Given the description of an element on the screen output the (x, y) to click on. 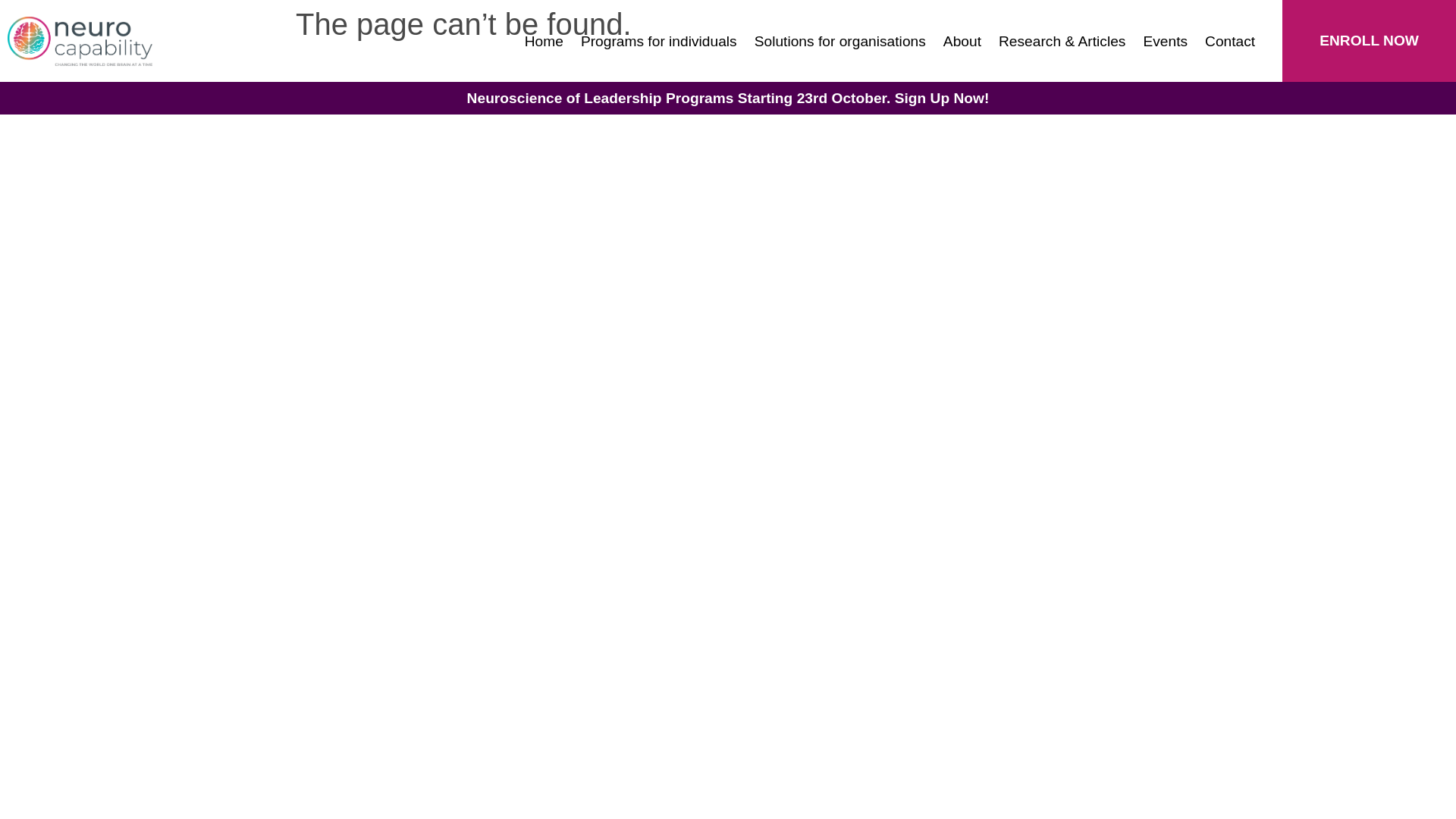
About Element type: text (962, 41)
Solutions for organisations Element type: text (839, 41)
Programs for individuals Element type: text (658, 41)
Contact Element type: text (1229, 41)
Events Element type: text (1164, 41)
Research & Articles Element type: text (1061, 41)
Home Element type: text (543, 41)
